Given the description of an element on the screen output the (x, y) to click on. 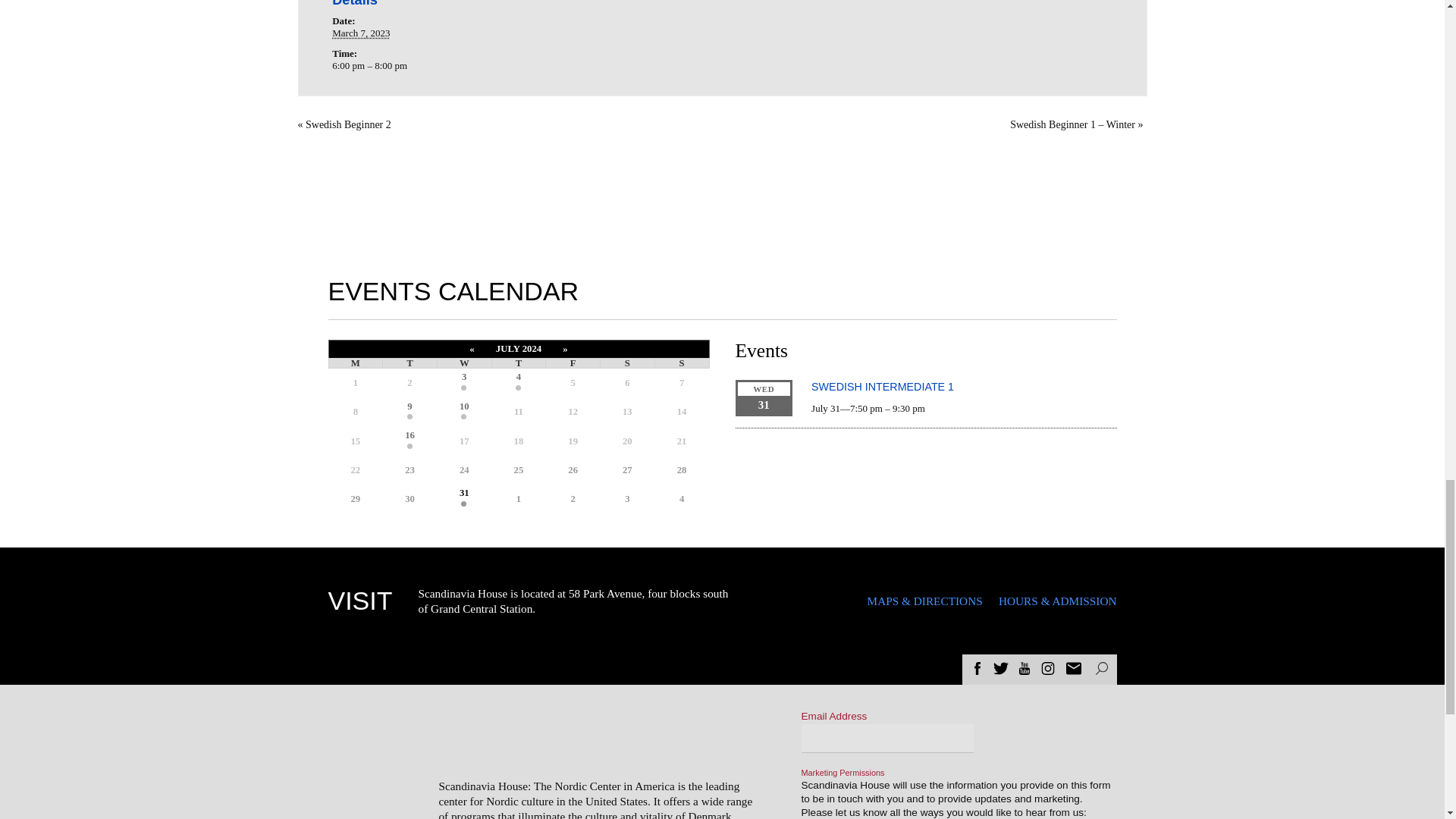
Search (1100, 667)
Facebook (976, 667)
YouTube (1023, 667)
Instagram (1048, 667)
Twitter (1000, 667)
2023-03-07 (360, 32)
2023-03-07 (439, 65)
Newsletter (1073, 667)
